Given the description of an element on the screen output the (x, y) to click on. 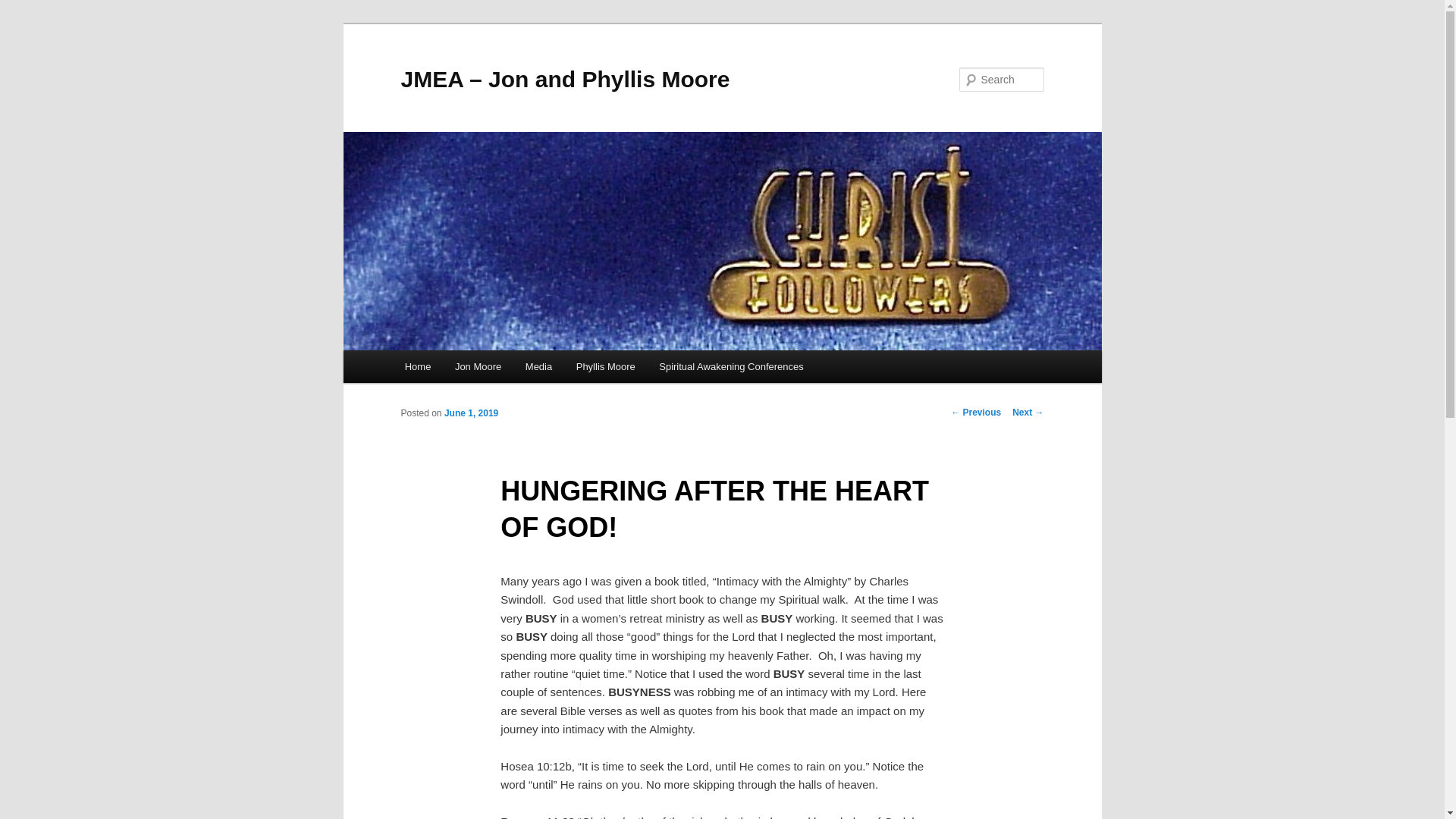
Media (538, 366)
Search (24, 8)
Jon Moore (477, 366)
4:30 am (470, 412)
Home (417, 366)
Phyllis Moore (605, 366)
Spiritual Awakening Conferences (731, 366)
June 1, 2019 (470, 412)
